Given the description of an element on the screen output the (x, y) to click on. 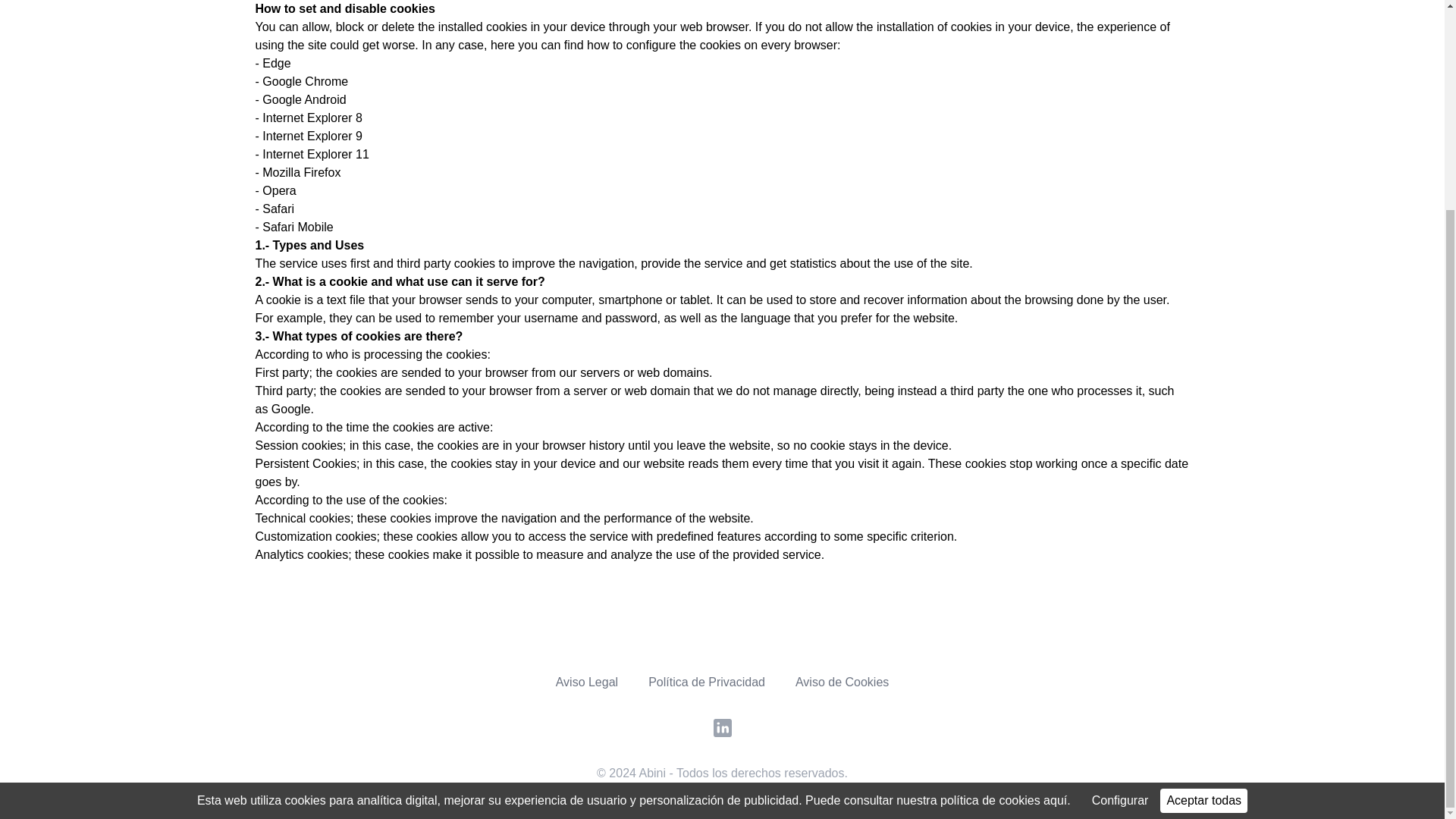
Safari Mobile (296, 226)
Configurar (1120, 527)
Opera (278, 190)
Safari (276, 208)
Internet Explorer 8 (312, 117)
Aceptar todas (1203, 527)
Aviso Legal (586, 681)
Google Android (304, 99)
Edge (275, 62)
Internet Explorer 9 (312, 135)
